Given the description of an element on the screen output the (x, y) to click on. 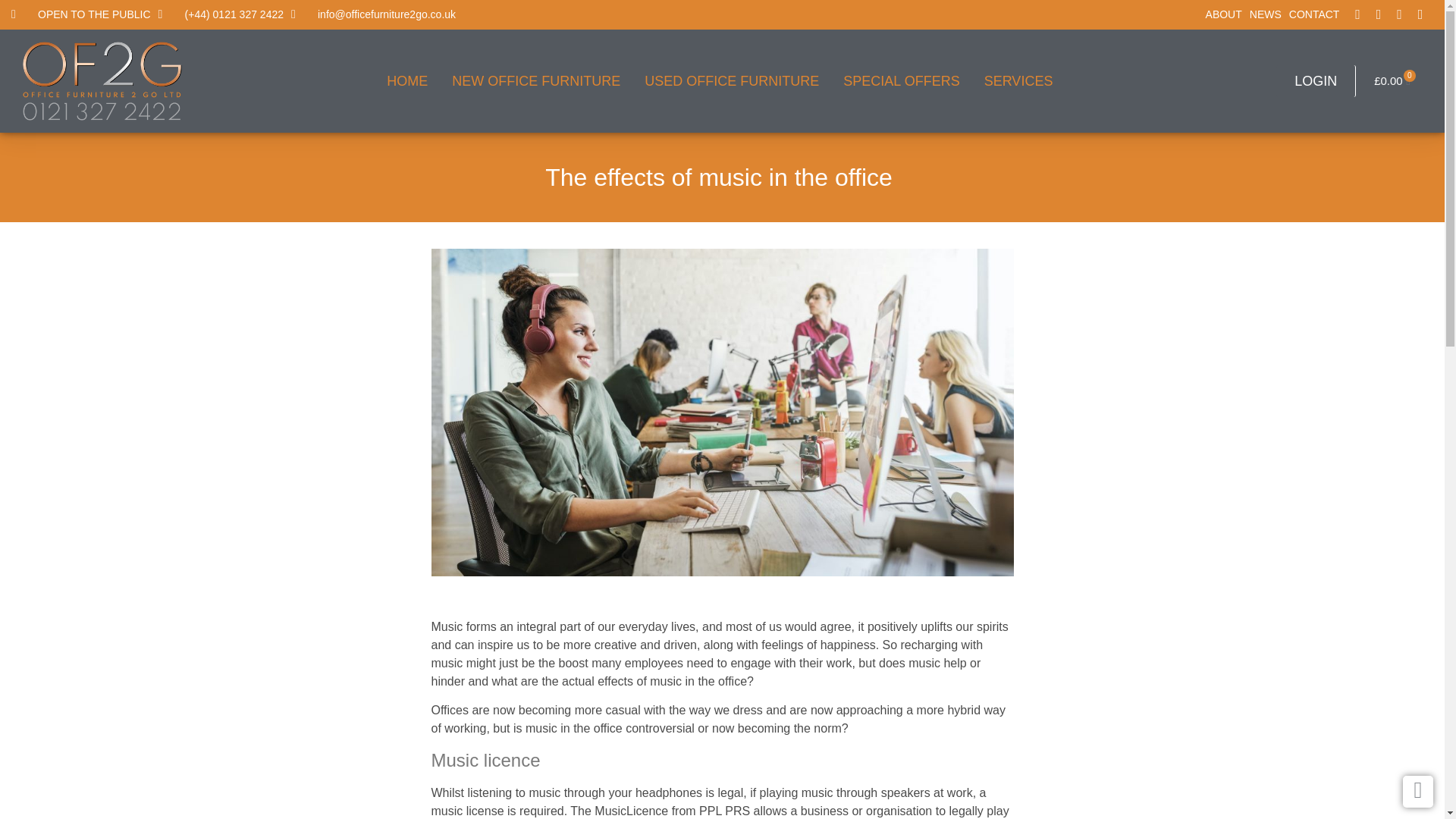
CONTACT (1314, 14)
ABOUT (1224, 14)
NEWS (1265, 14)
